Given the description of an element on the screen output the (x, y) to click on. 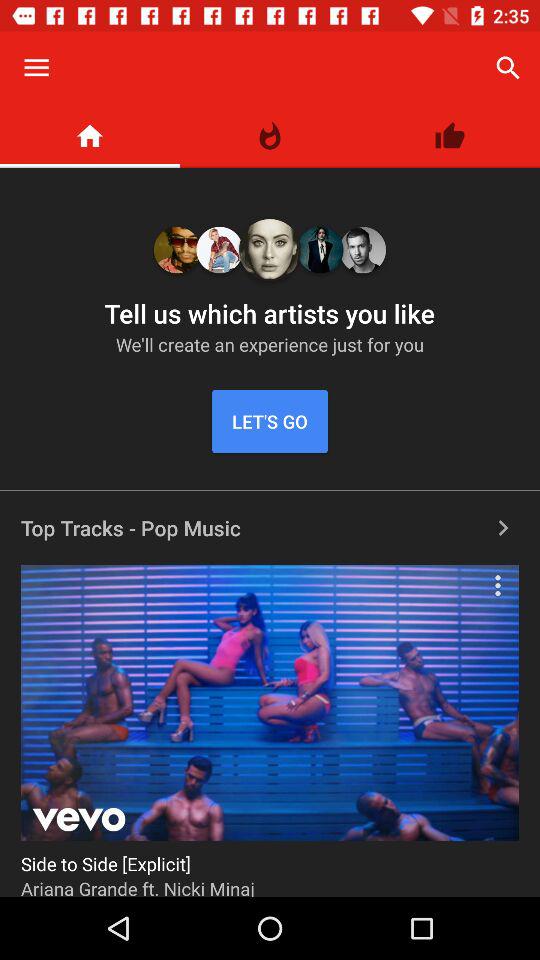
turn off icon above the side to side (497, 585)
